Given the description of an element on the screen output the (x, y) to click on. 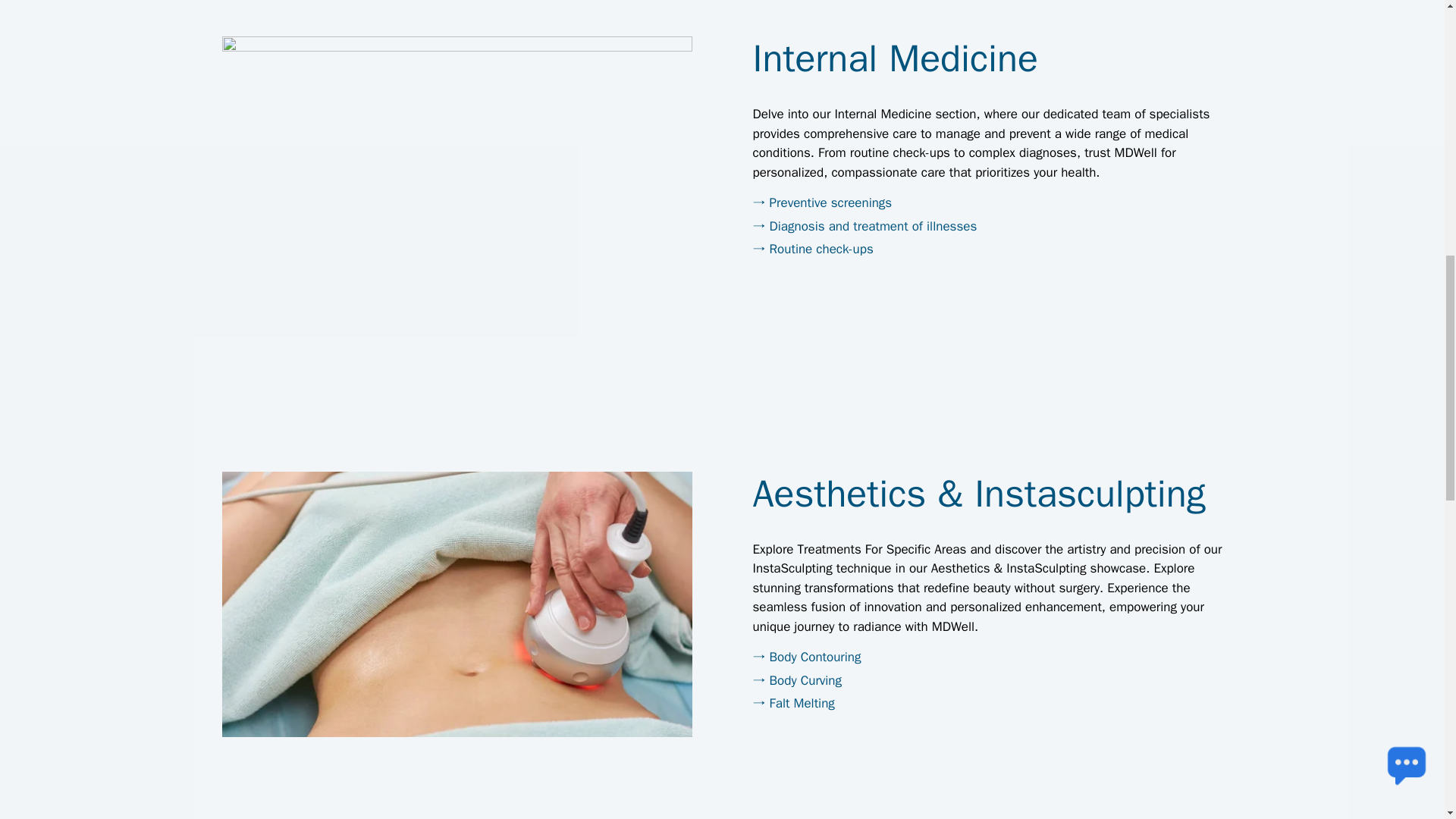
membertreatment (456, 604)
